Given the description of an element on the screen output the (x, y) to click on. 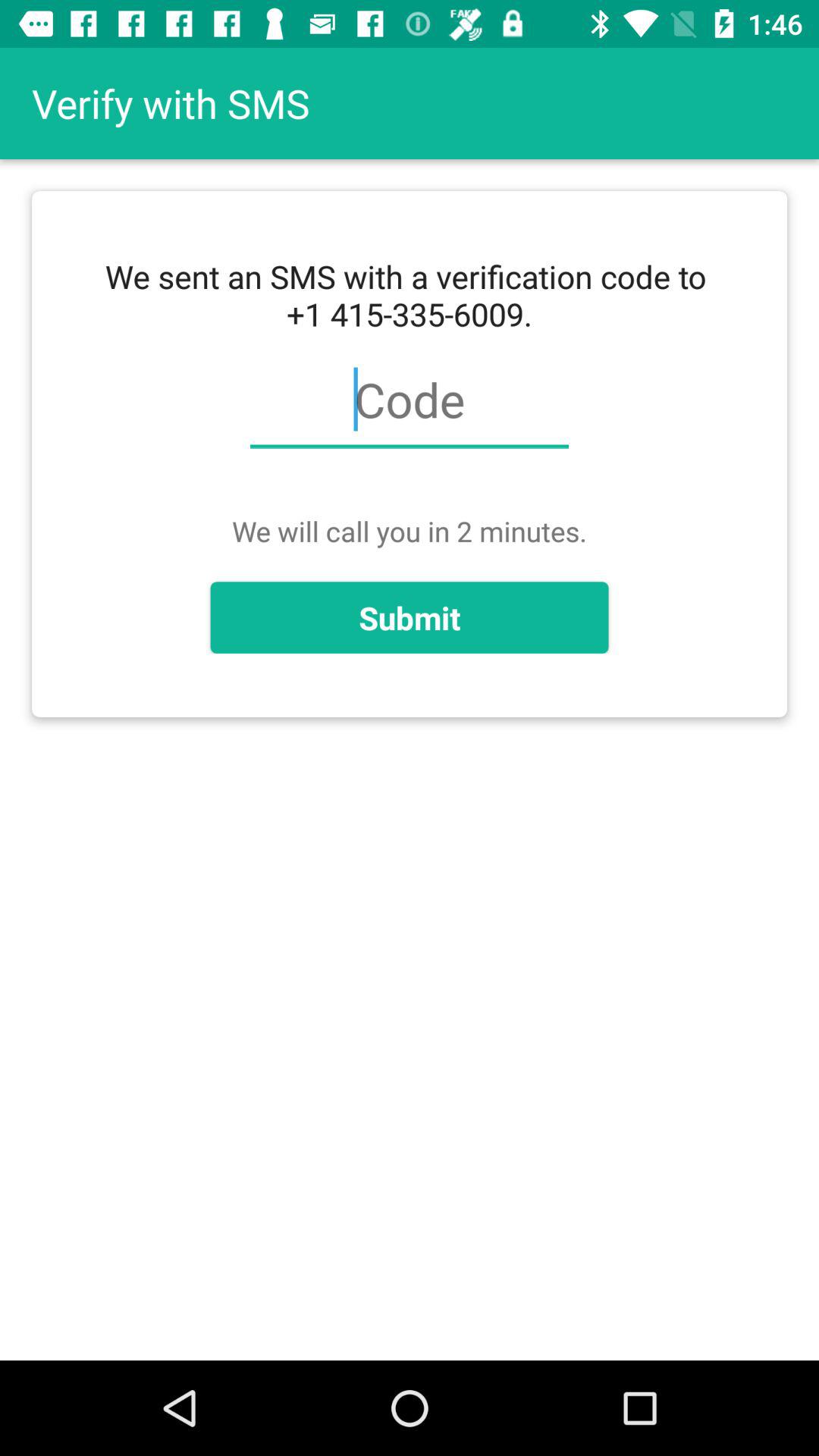
turn off item below we will call (409, 617)
